Given the description of an element on the screen output the (x, y) to click on. 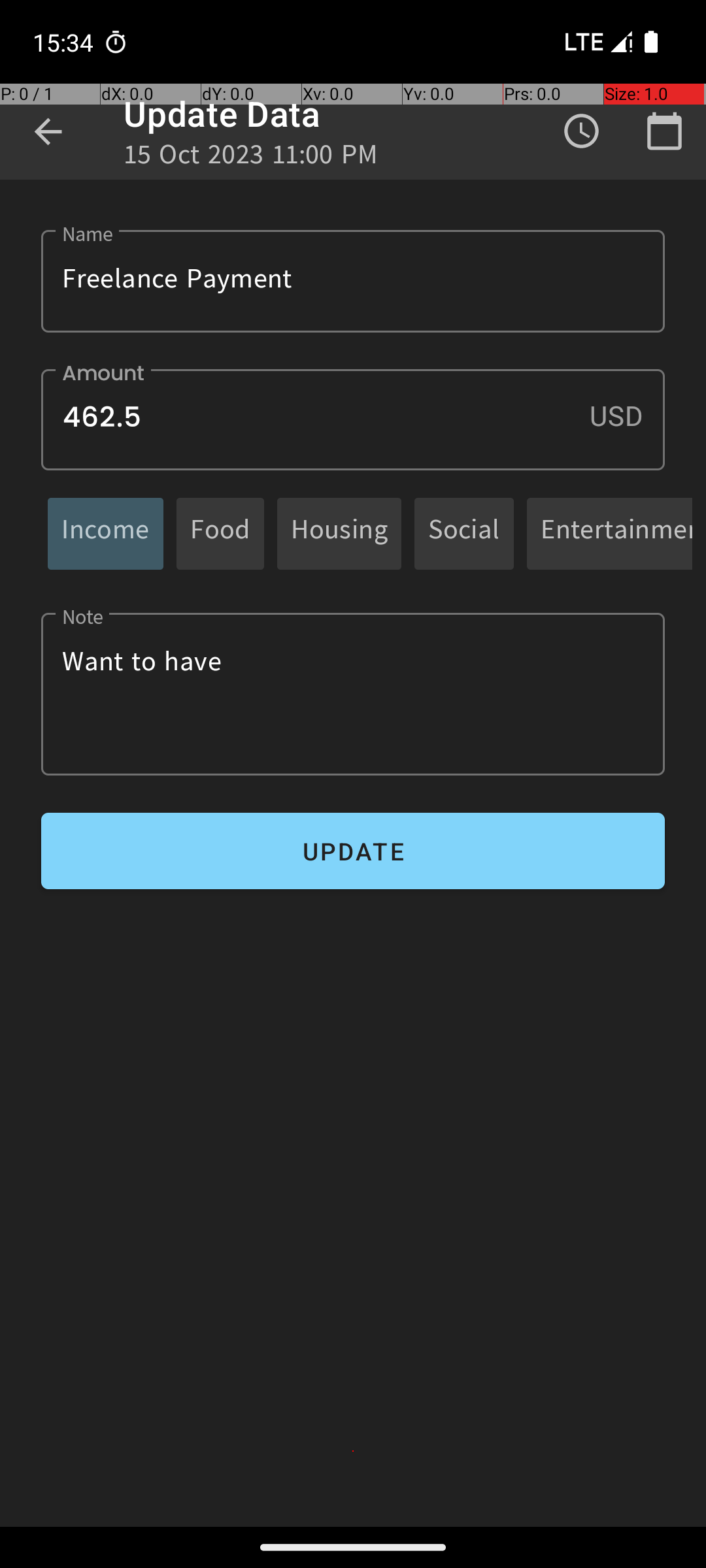
15 Oct 2023 11:00 PM Element type: android.widget.TextView (250, 157)
462.5 Element type: android.widget.EditText (352, 419)
Want to have Element type: android.widget.EditText (352, 693)
